Given the description of an element on the screen output the (x, y) to click on. 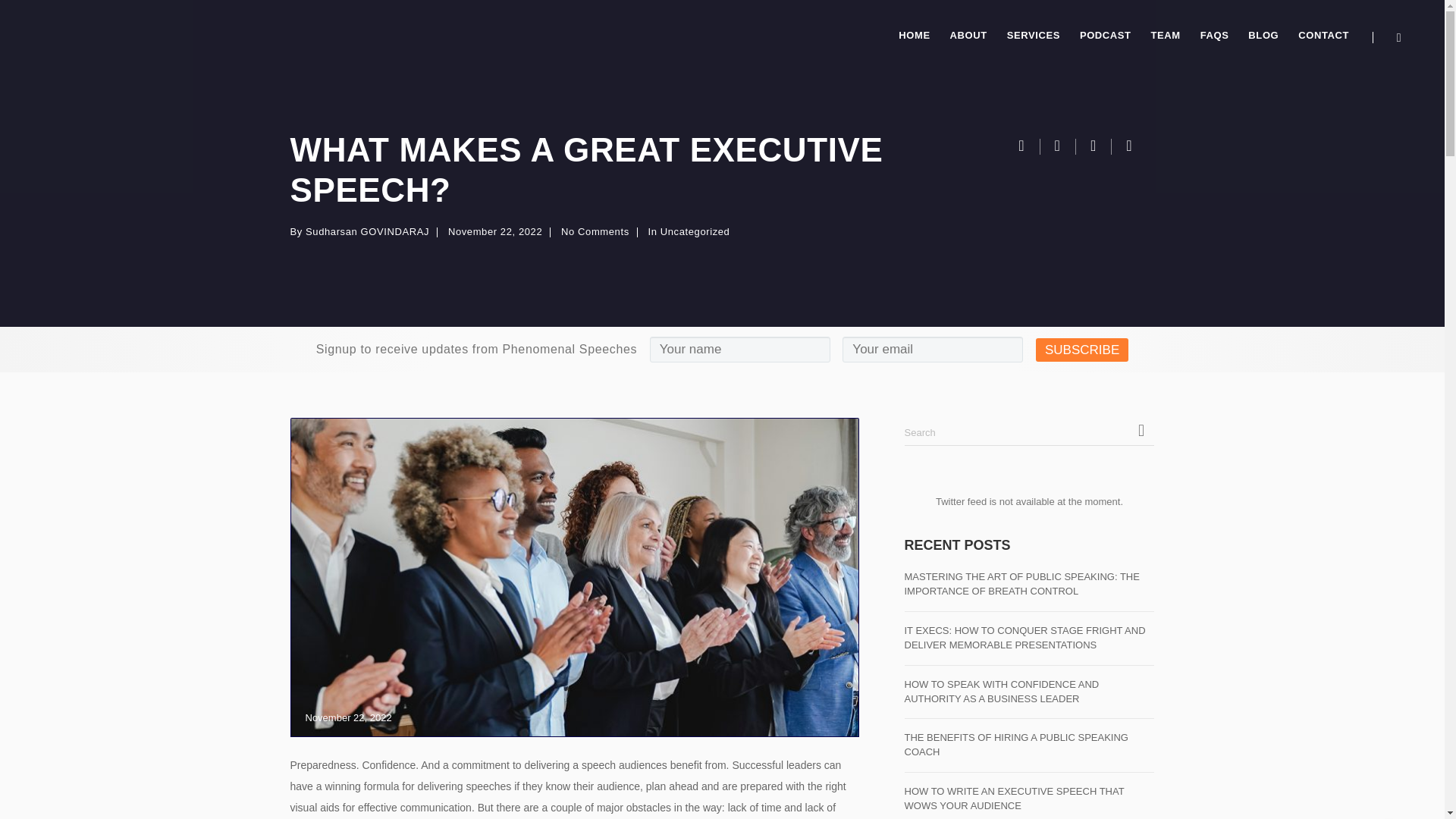
TEAM (1165, 37)
HOW TO WRITE AN EXECUTIVE SPEECH THAT WOWS YOUR AUDIENCE (1029, 799)
ABOUT (968, 37)
CONTACT (1319, 37)
HOME (913, 37)
HOME (913, 37)
ABOUT (968, 37)
SUBSCRIBE (1081, 349)
SERVICES (1033, 37)
BLOG (1263, 37)
THE BENEFITS OF HIRING A PUBLIC SPEAKING COACH (1029, 745)
Sudharsan GOVINDARAJ (367, 232)
